Given the description of an element on the screen output the (x, y) to click on. 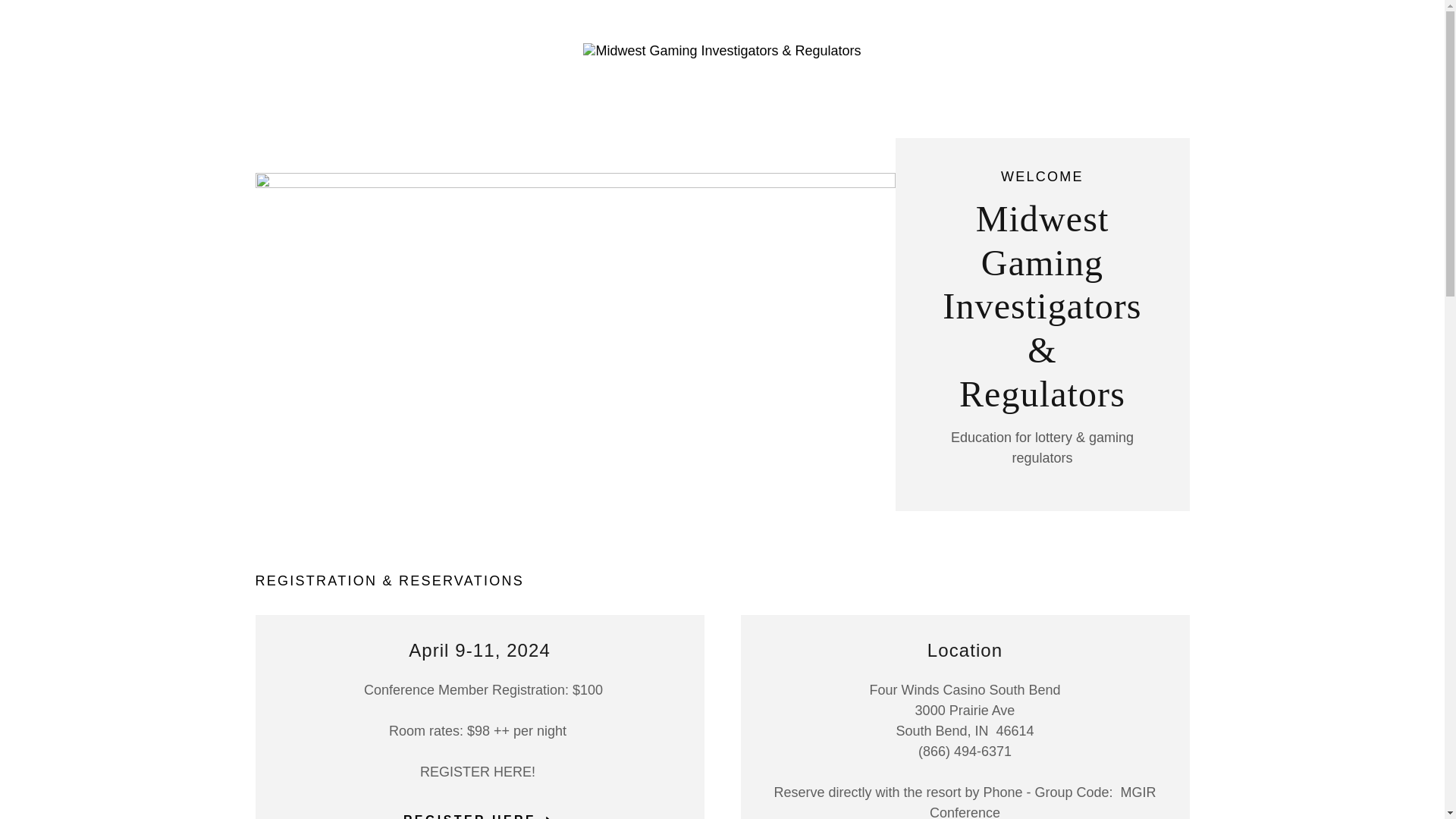
REGISTER HERE (479, 809)
